Given the description of an element on the screen output the (x, y) to click on. 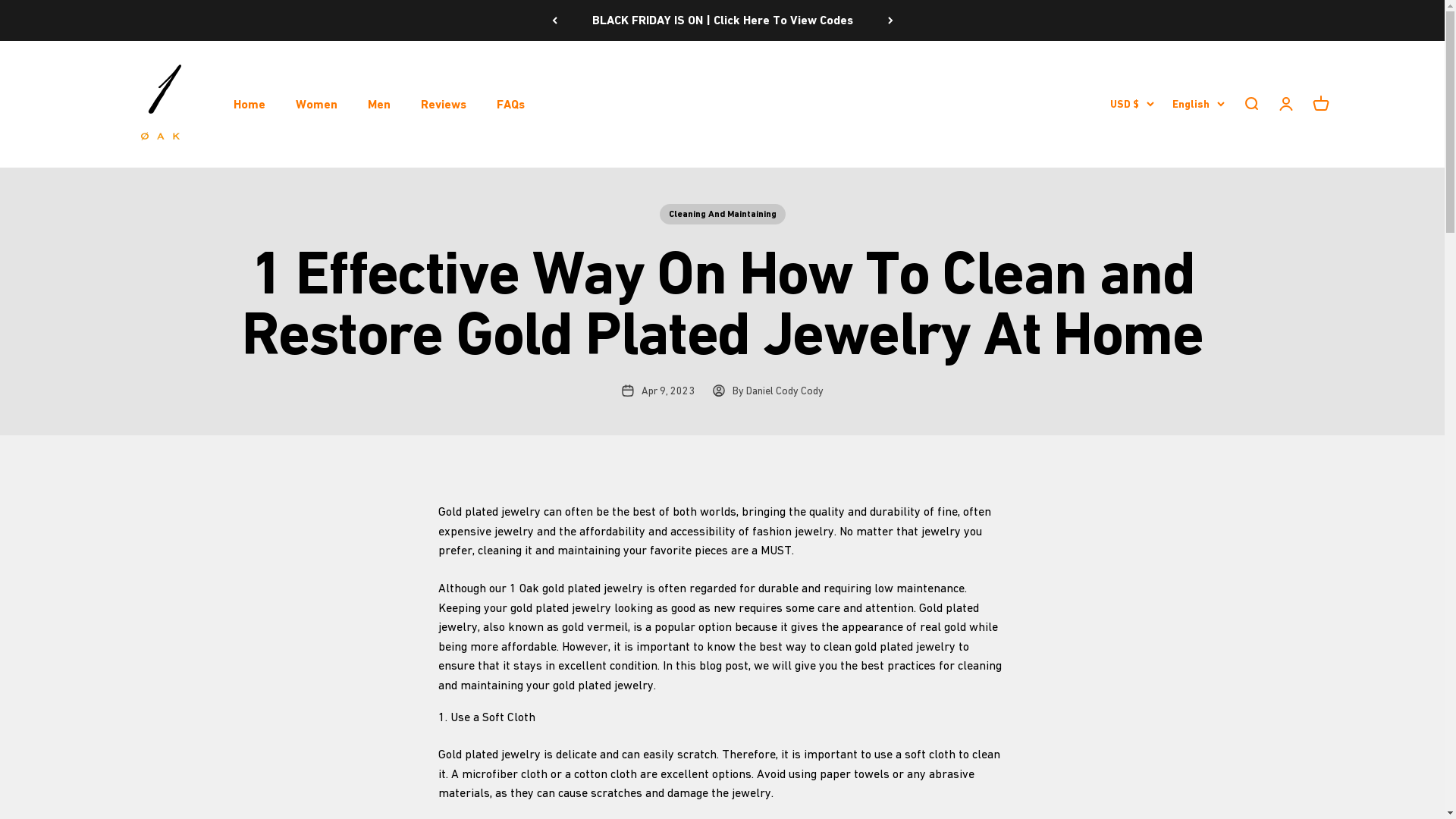
Men Element type: text (378, 103)
BLACK FRIDAY IS ON | Click Here To View Codes Element type: text (721, 19)
FAQs Element type: text (509, 103)
Women Element type: text (316, 103)
Home Element type: text (249, 103)
Cleaning And Maintaining Element type: text (722, 213)
Open account page Element type: text (1285, 103)
Reviews Element type: text (442, 103)
Open cart
0 Element type: text (1319, 103)
Open search Element type: text (1250, 103)
USD $ Element type: text (1129, 103)
English Element type: text (1198, 103)
